Given the description of an element on the screen output the (x, y) to click on. 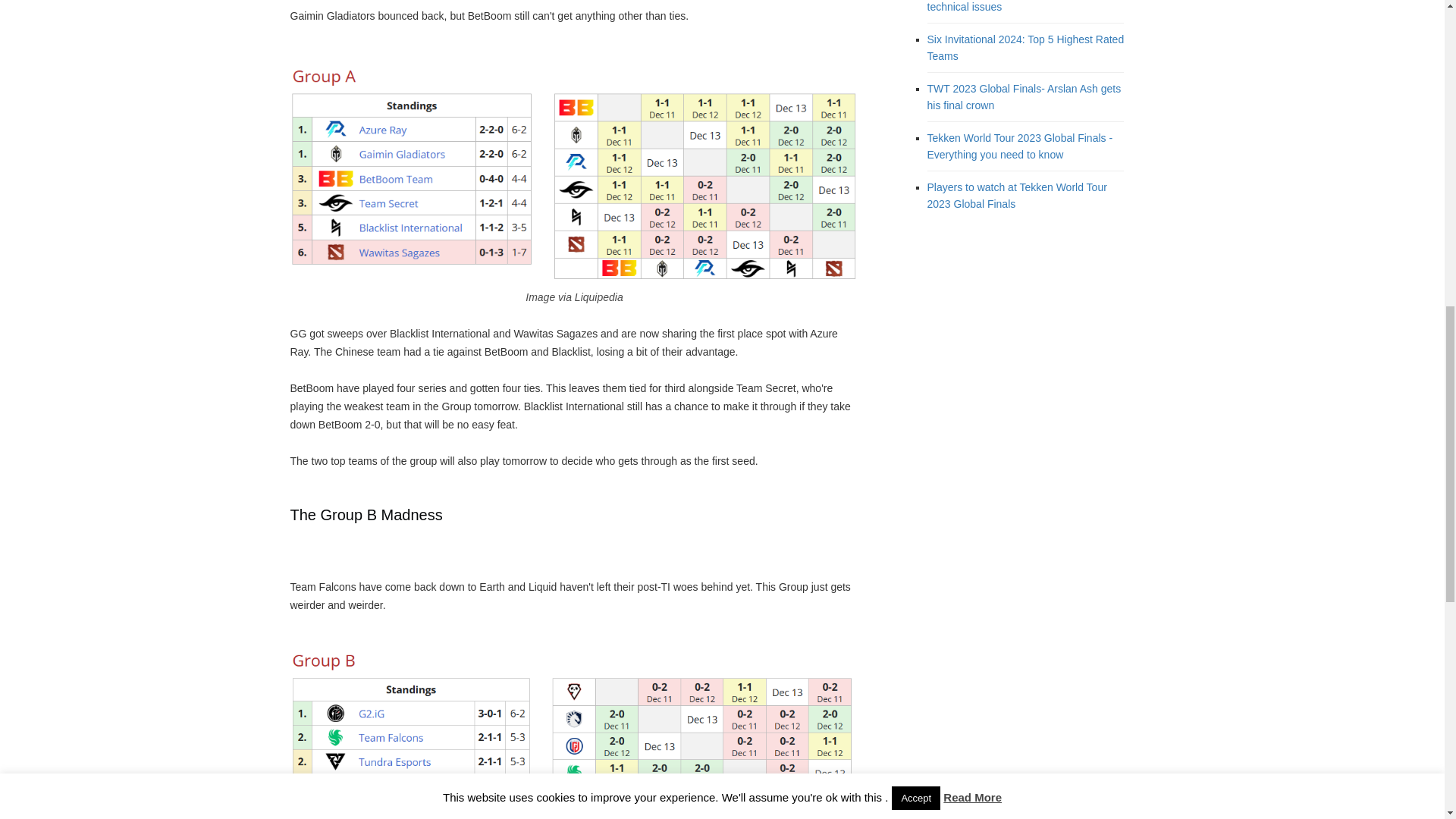
TWT 2023 Global Finals- Arslan Ash gets his final crown (1023, 96)
Six Invitational 2024: Top 5 Highest Rated Teams (1025, 47)
LCK series last upwards of 6 hours due to technical issues (1025, 6)
Players to watch at Tekken World Tour 2023 Global Finals (1016, 194)
